Given the description of an element on the screen output the (x, y) to click on. 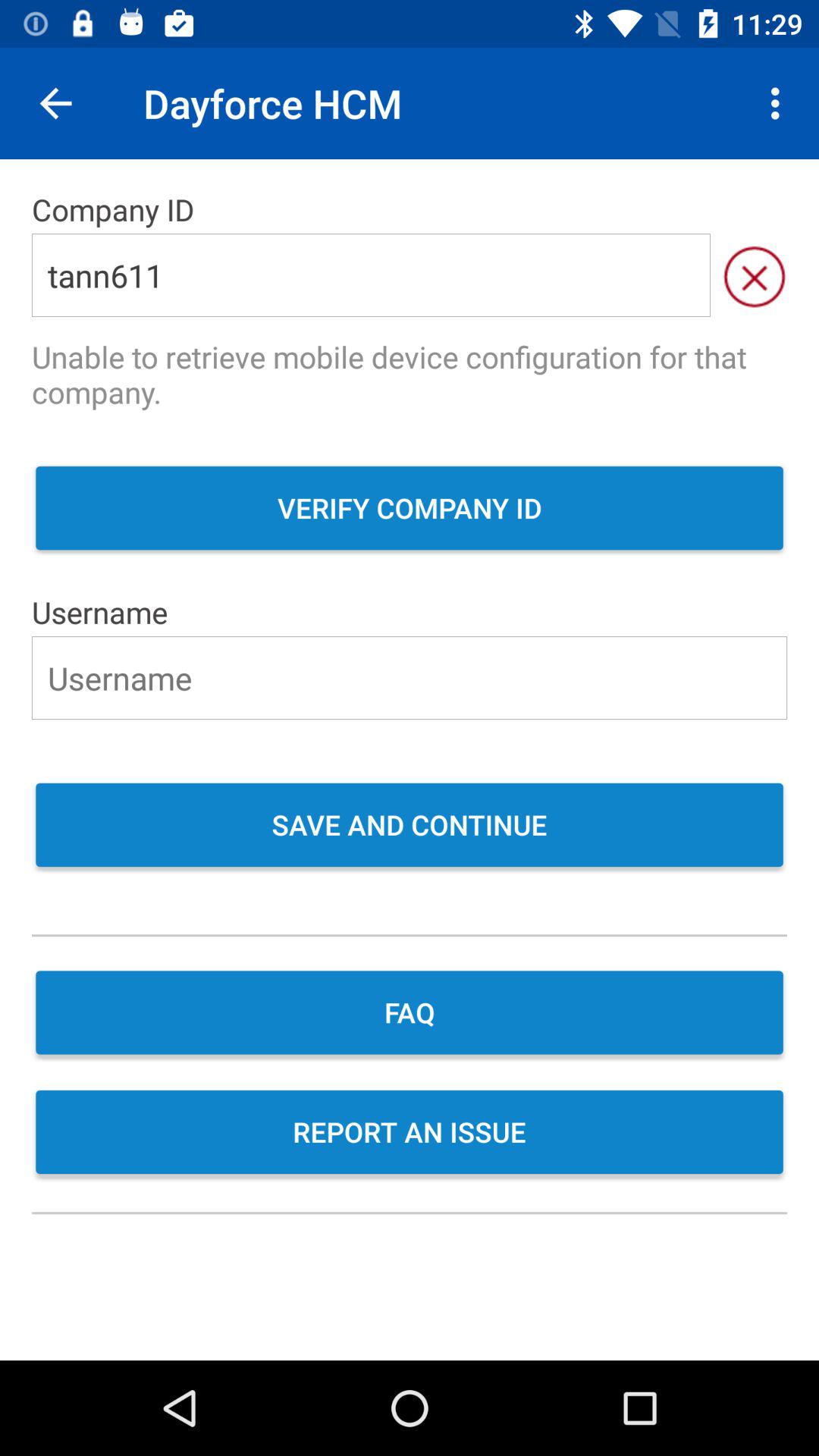
turn off the icon below company id (370, 274)
